Given the description of an element on the screen output the (x, y) to click on. 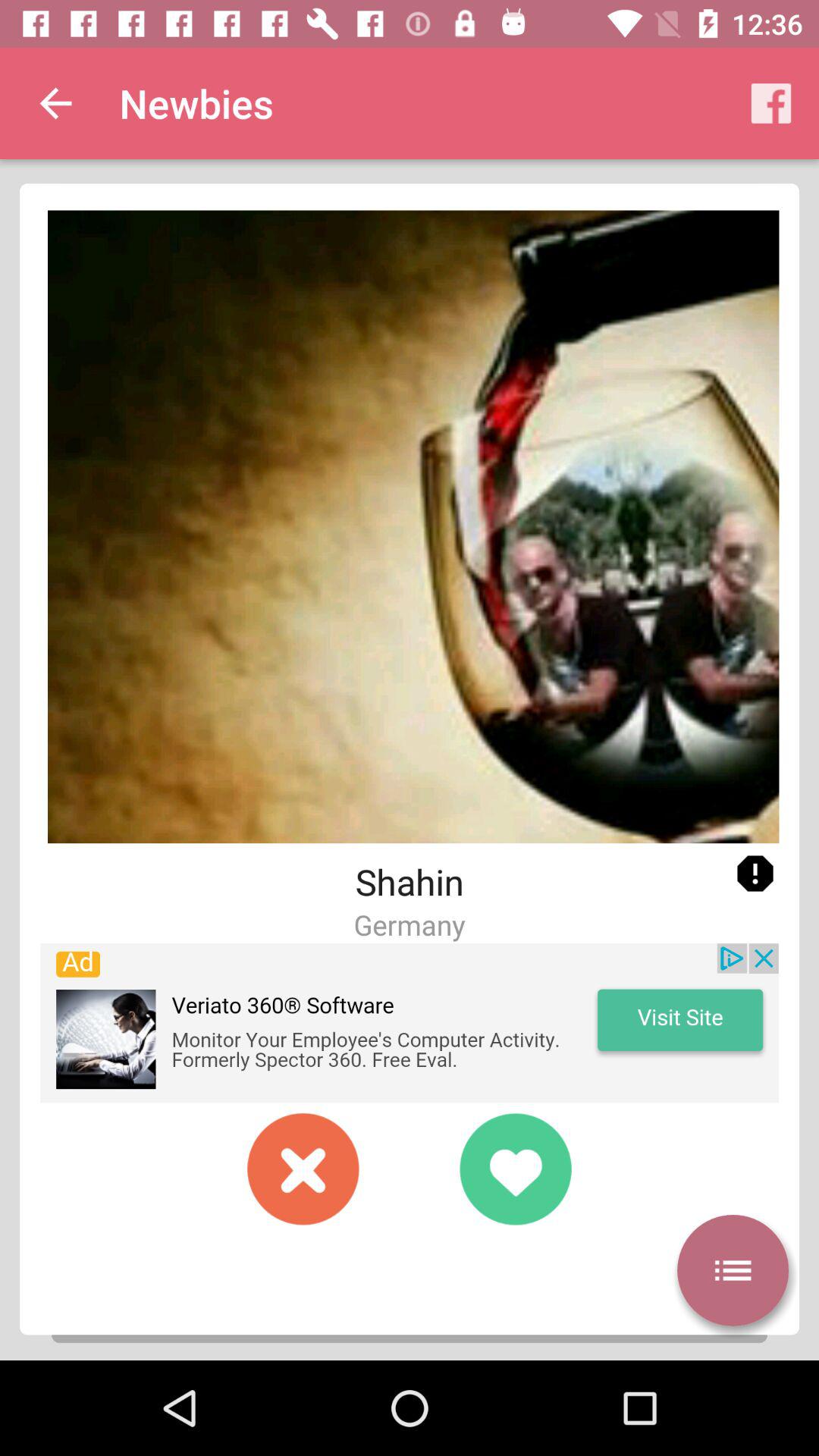
to close the page (303, 1169)
